Given the description of an element on the screen output the (x, y) to click on. 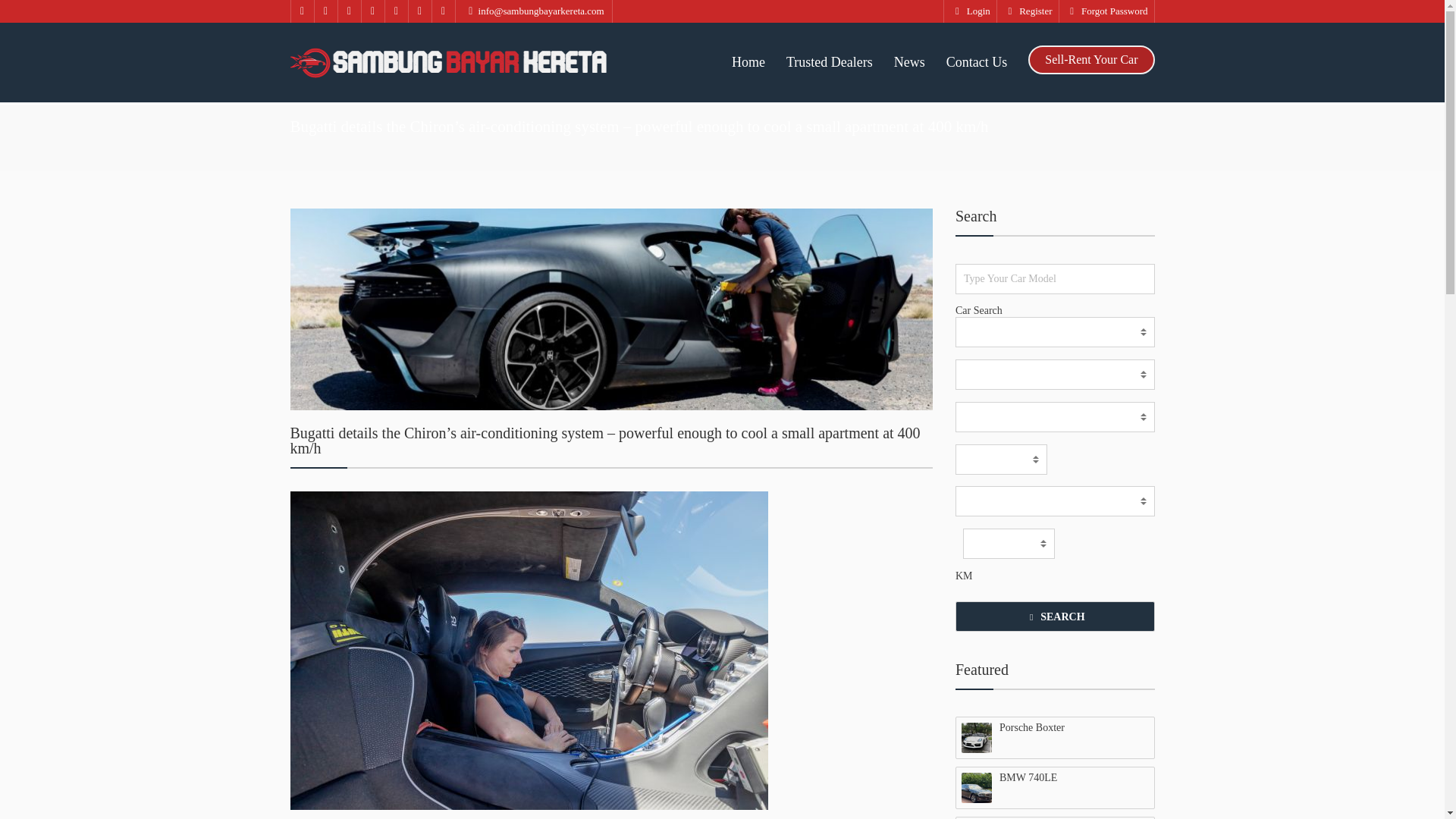
BMW 740LE (1054, 777)
Trusted Dealers (829, 62)
SEARCH (1054, 616)
Porsche Boxter (1054, 727)
Login (969, 11)
Sell-Rent Your Car (1090, 59)
Register (1027, 11)
Forgot Password (1106, 11)
